Given the description of an element on the screen output the (x, y) to click on. 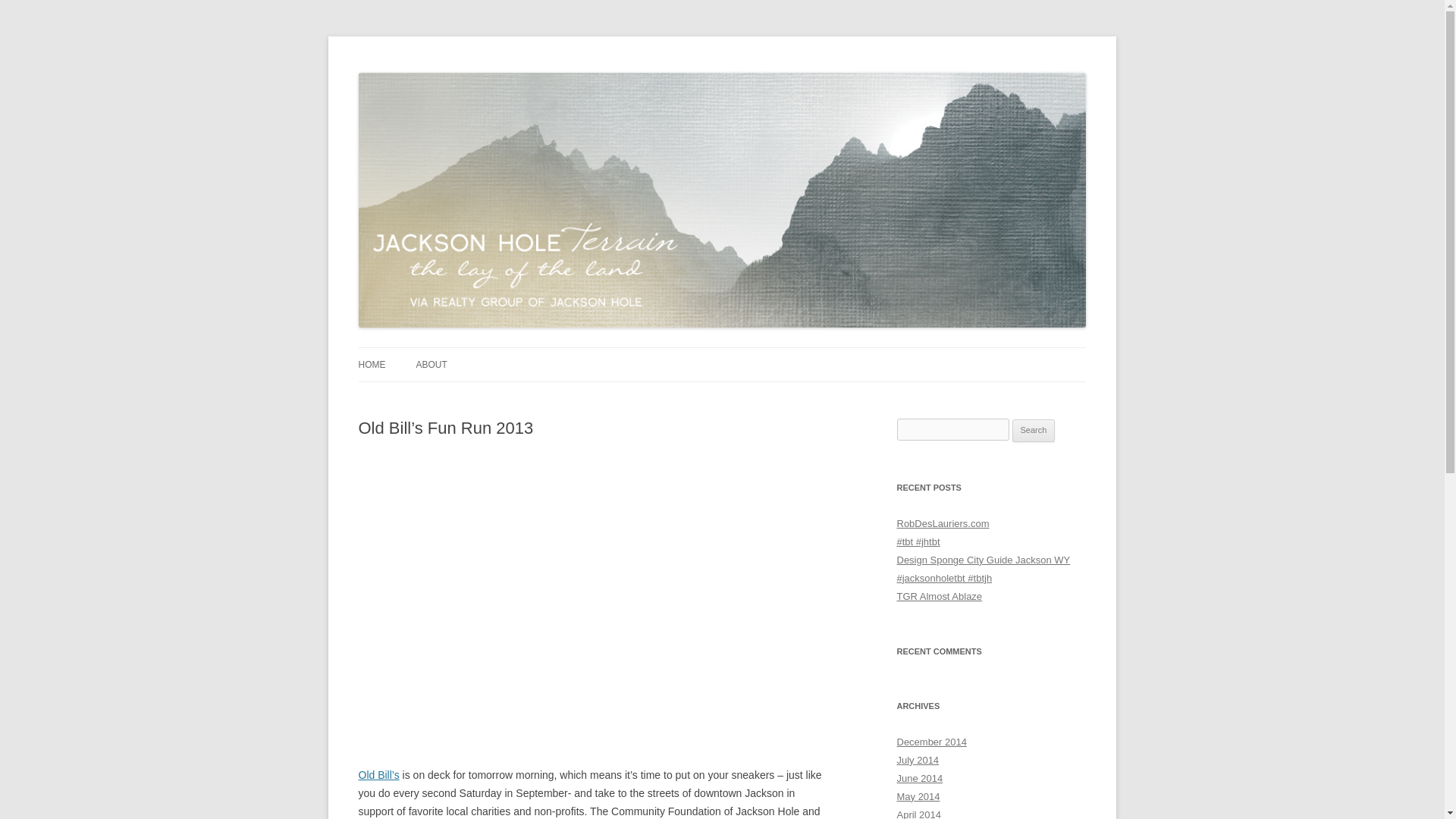
July 2014 (917, 759)
Search (1033, 430)
Old Bills Fun Run (378, 775)
OBFR 2011 Cinema Ad (594, 590)
Search (1033, 430)
RobDesLauriers.com (942, 523)
Design Sponge City Guide Jackson WY (983, 559)
TGR Almost Ablaze (938, 595)
December 2014 (931, 741)
Jackson Hole Terrain (457, 72)
